Given the description of an element on the screen output the (x, y) to click on. 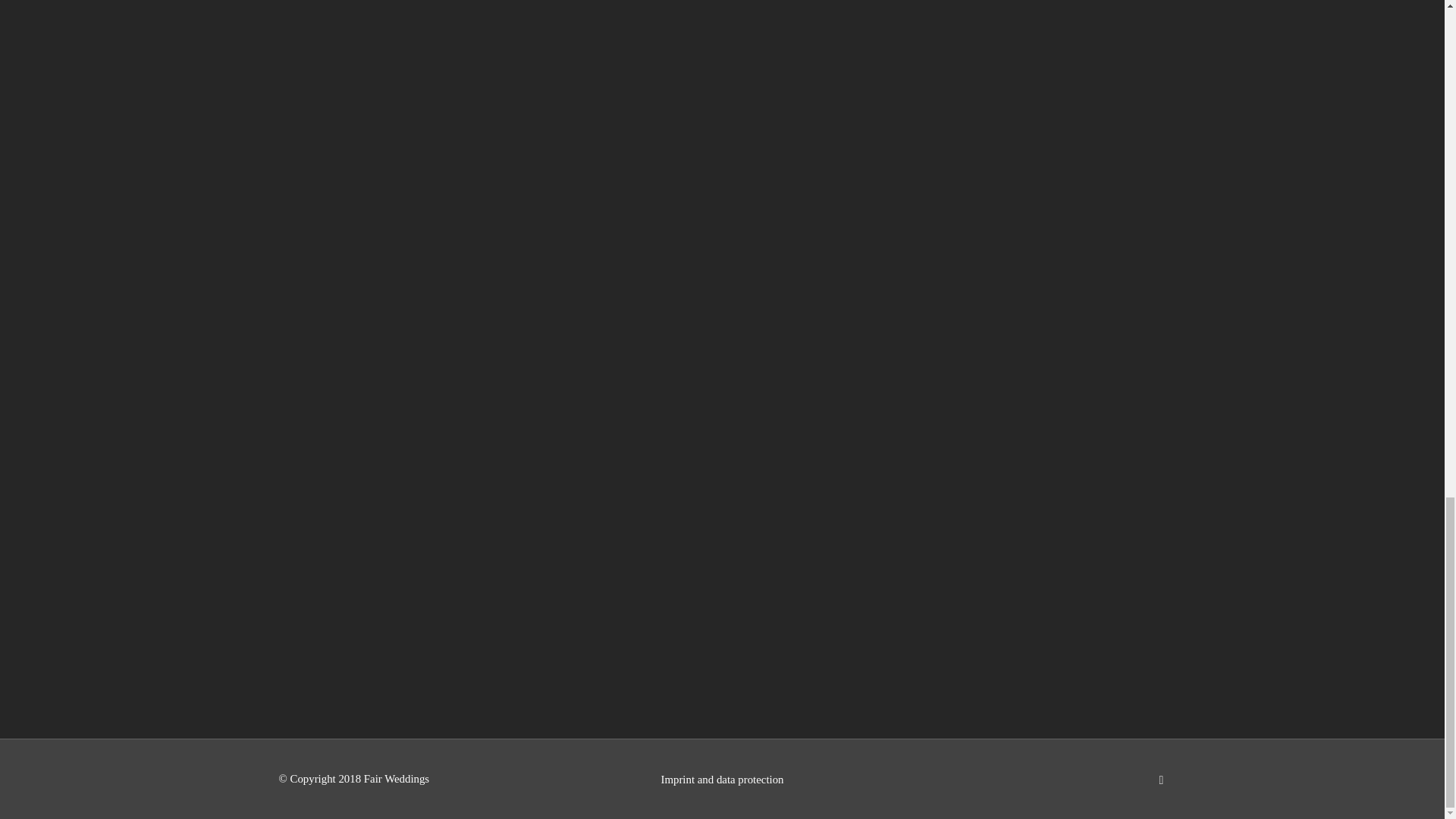
Imprint and data protection (722, 779)
Instagram (1161, 779)
